Given the description of an element on the screen output the (x, y) to click on. 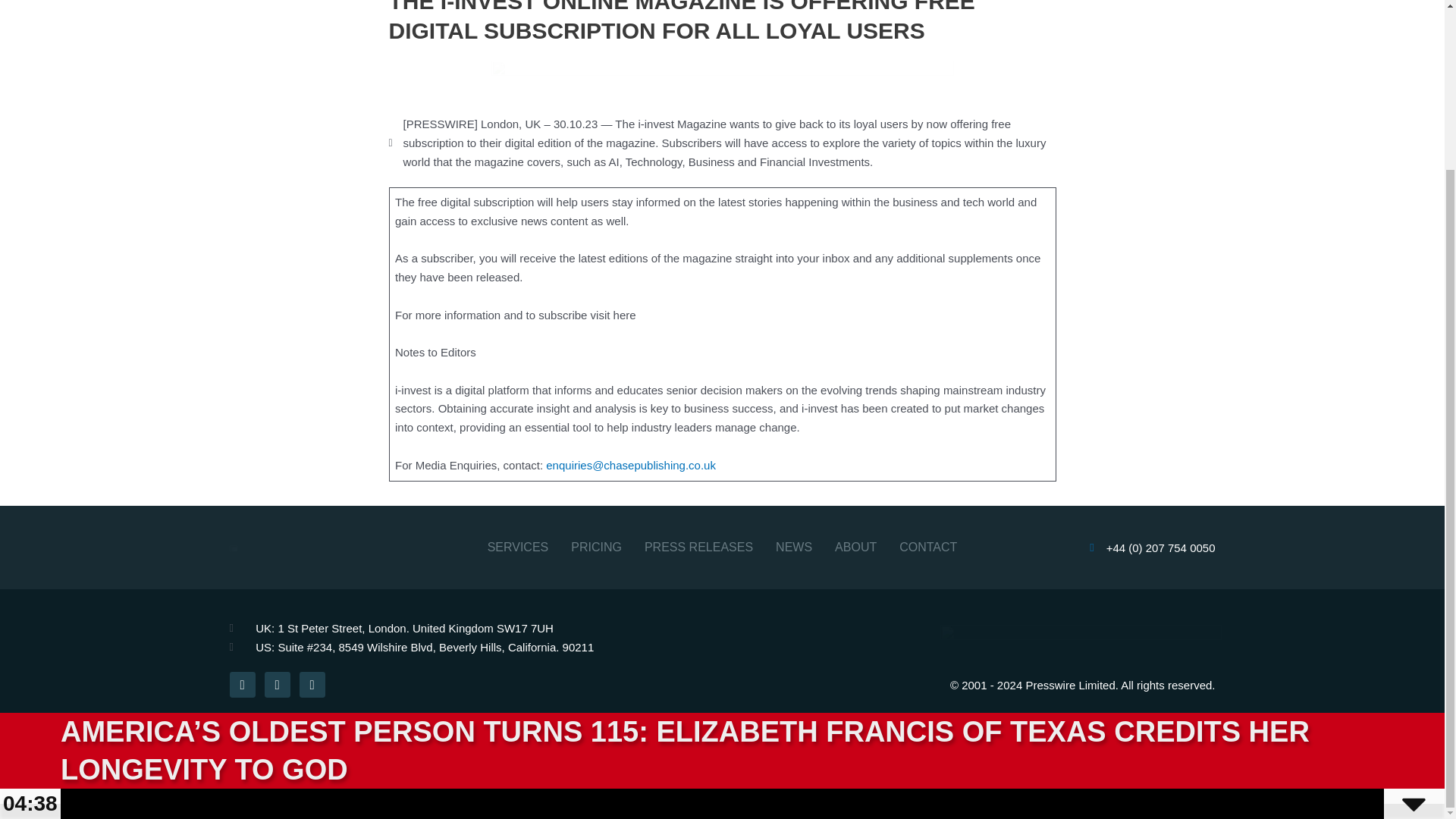
CONTACT (927, 547)
PRESS RELEASES (698, 547)
ABOUT (855, 547)
NEWS (794, 547)
PRICING (595, 547)
SERVICES (517, 547)
